Given the description of an element on the screen output the (x, y) to click on. 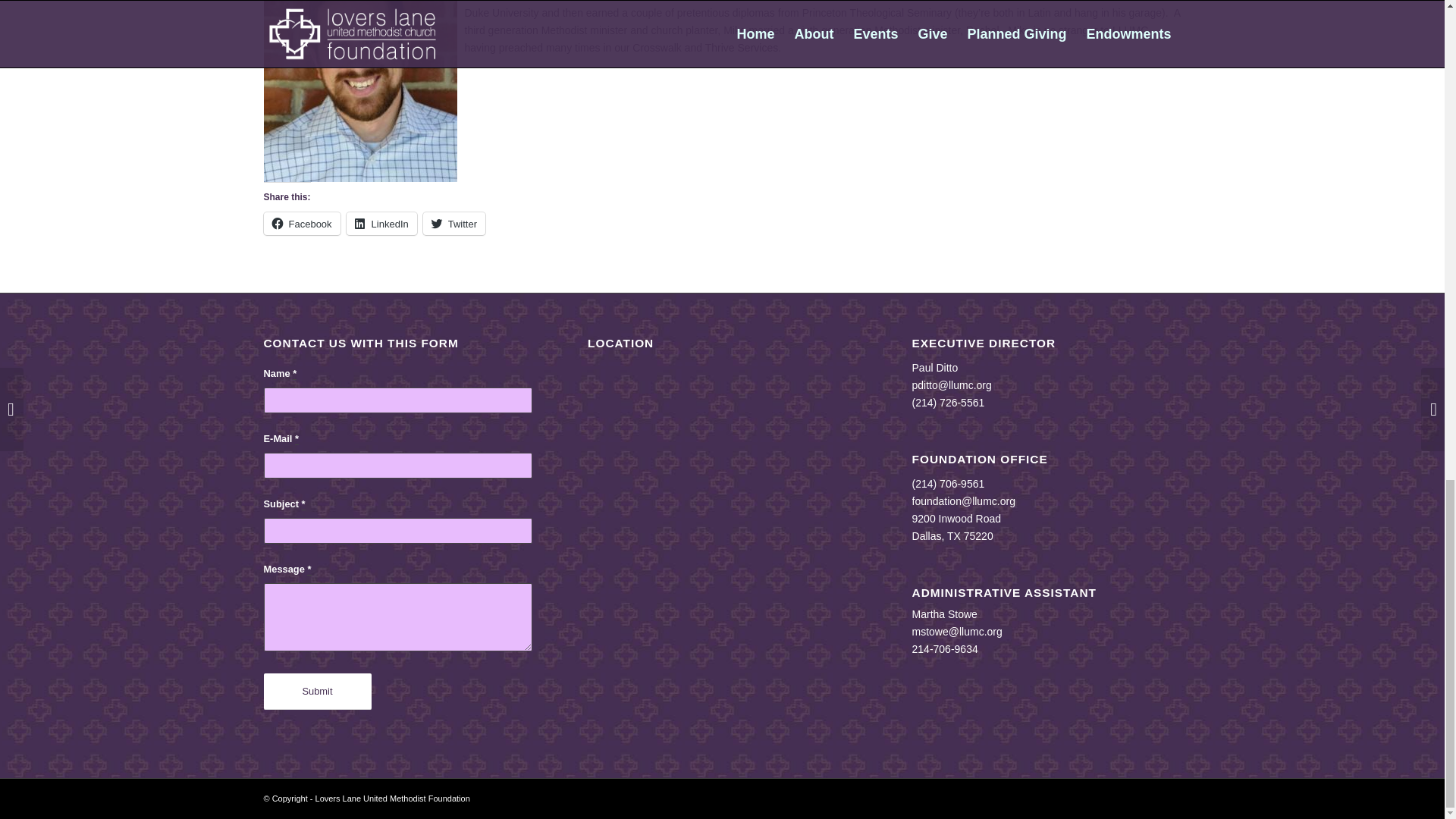
Click to share on Twitter (453, 223)
Twitter (453, 223)
Facebook (301, 223)
Click to share on LinkedIn (381, 223)
Submit (317, 691)
LinkedIn (381, 223)
Submit (317, 691)
Click to share on Facebook (301, 223)
